Given the description of an element on the screen output the (x, y) to click on. 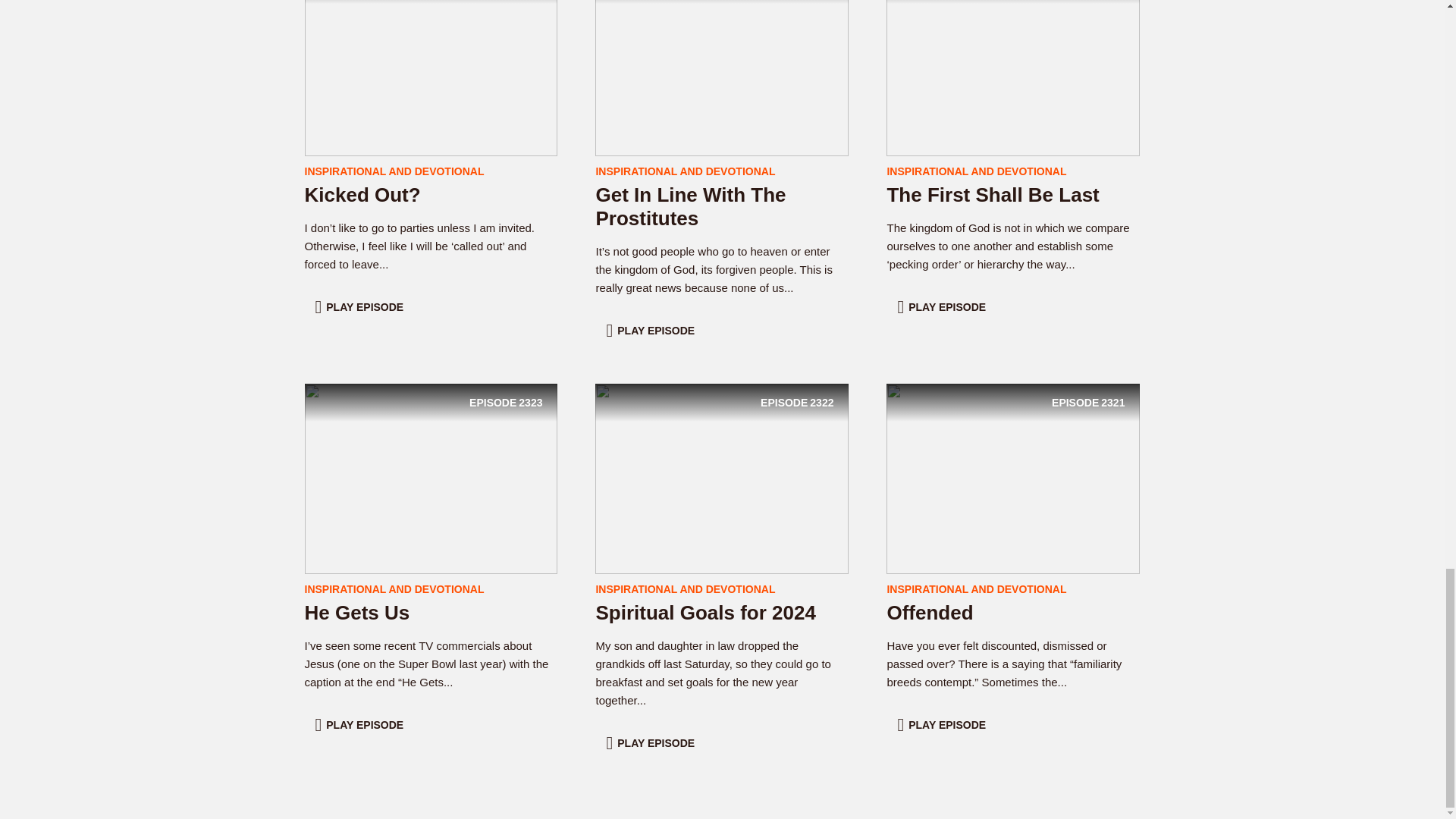
PLAY EPISODE (652, 330)
Kicked Out? (362, 194)
PLAY EPISODE (430, 60)
Get In Line With The Prostitutes (652, 743)
INSPIRATIONAL AND DEVOTIONAL (721, 60)
PLAY EPISODE (430, 477)
INSPIRATIONAL AND DEVOTIONAL (690, 206)
